Given the description of an element on the screen output the (x, y) to click on. 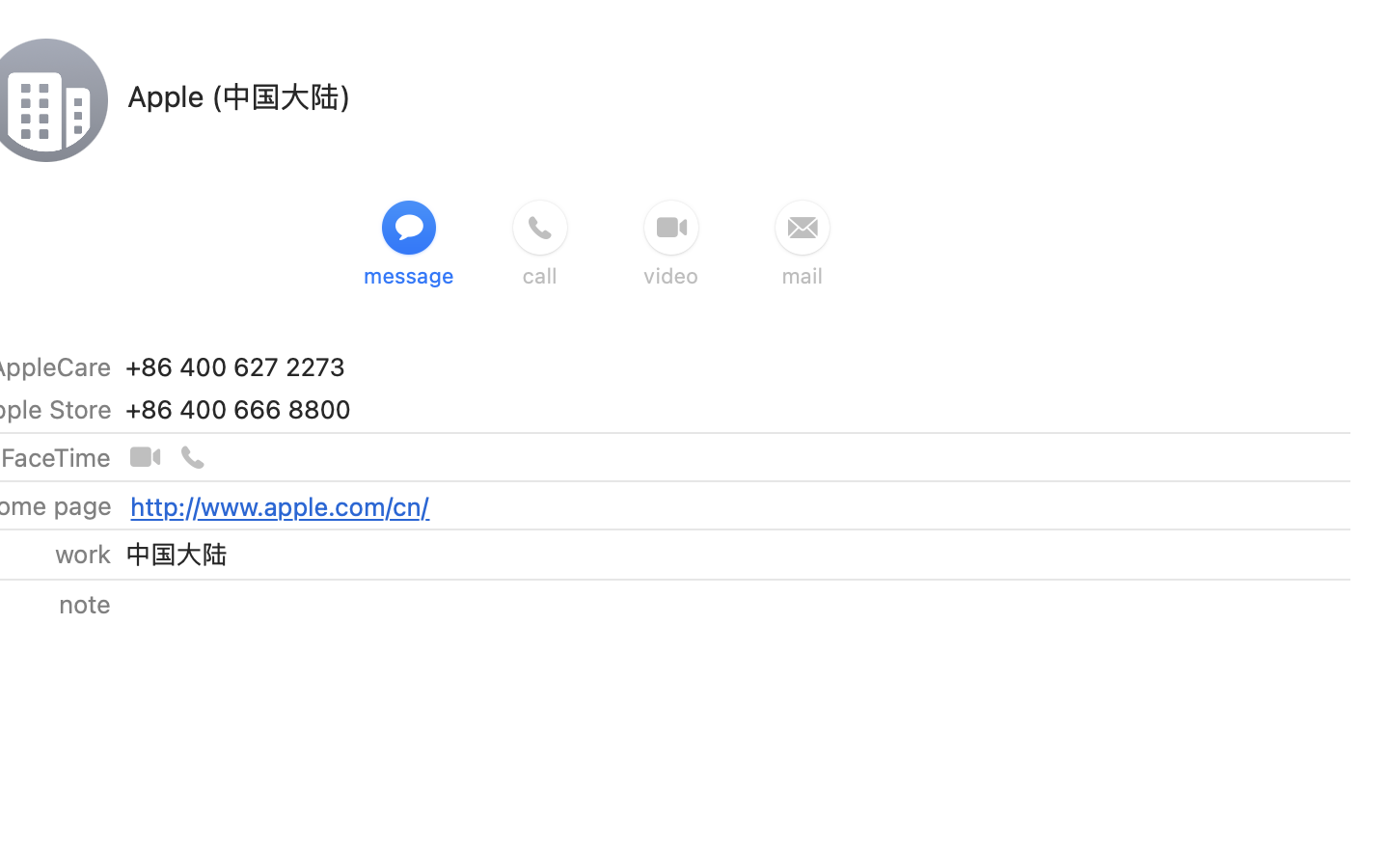
note Element type: AXStaticText (83, 603)
中国大陆 Element type: AXStaticText (176, 553)
‭+86 400 627 2273‬ Element type: AXStaticText (235, 366)
